Given the description of an element on the screen output the (x, y) to click on. 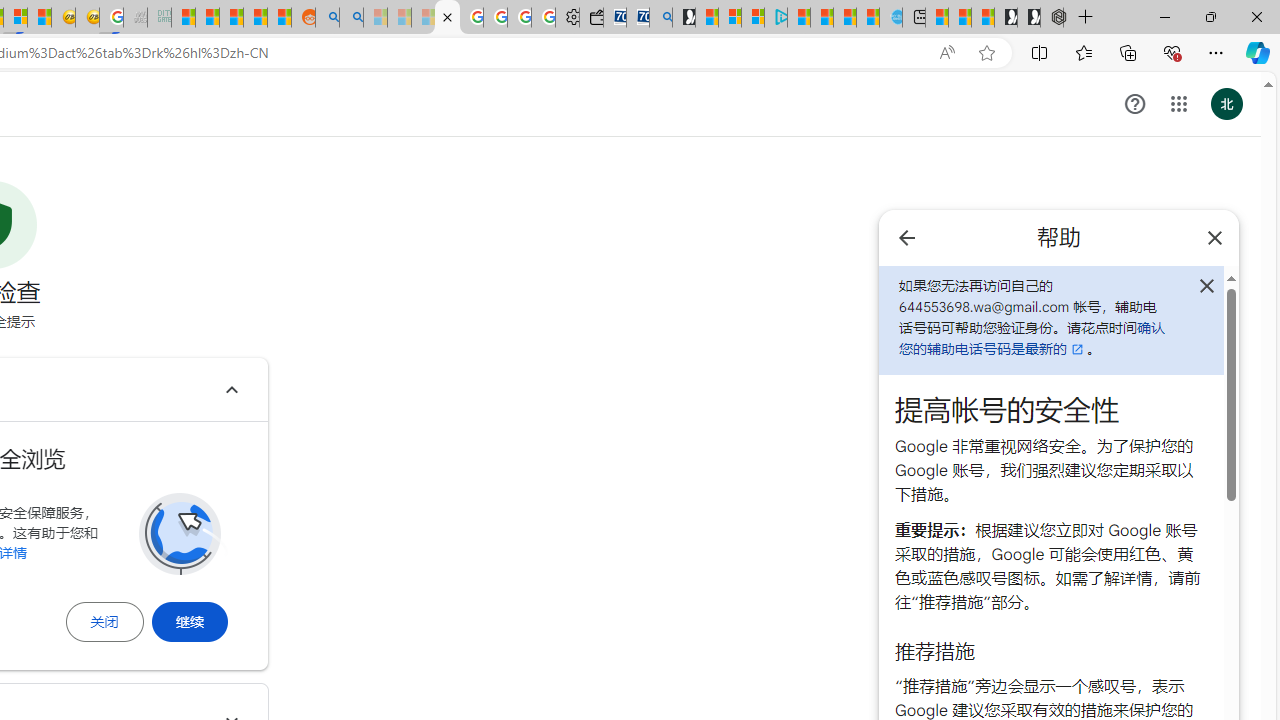
Student Loan Update: Forgiveness Program Ends This Month (255, 17)
Class: gb_E (1178, 103)
